Given the description of an element on the screen output the (x, y) to click on. 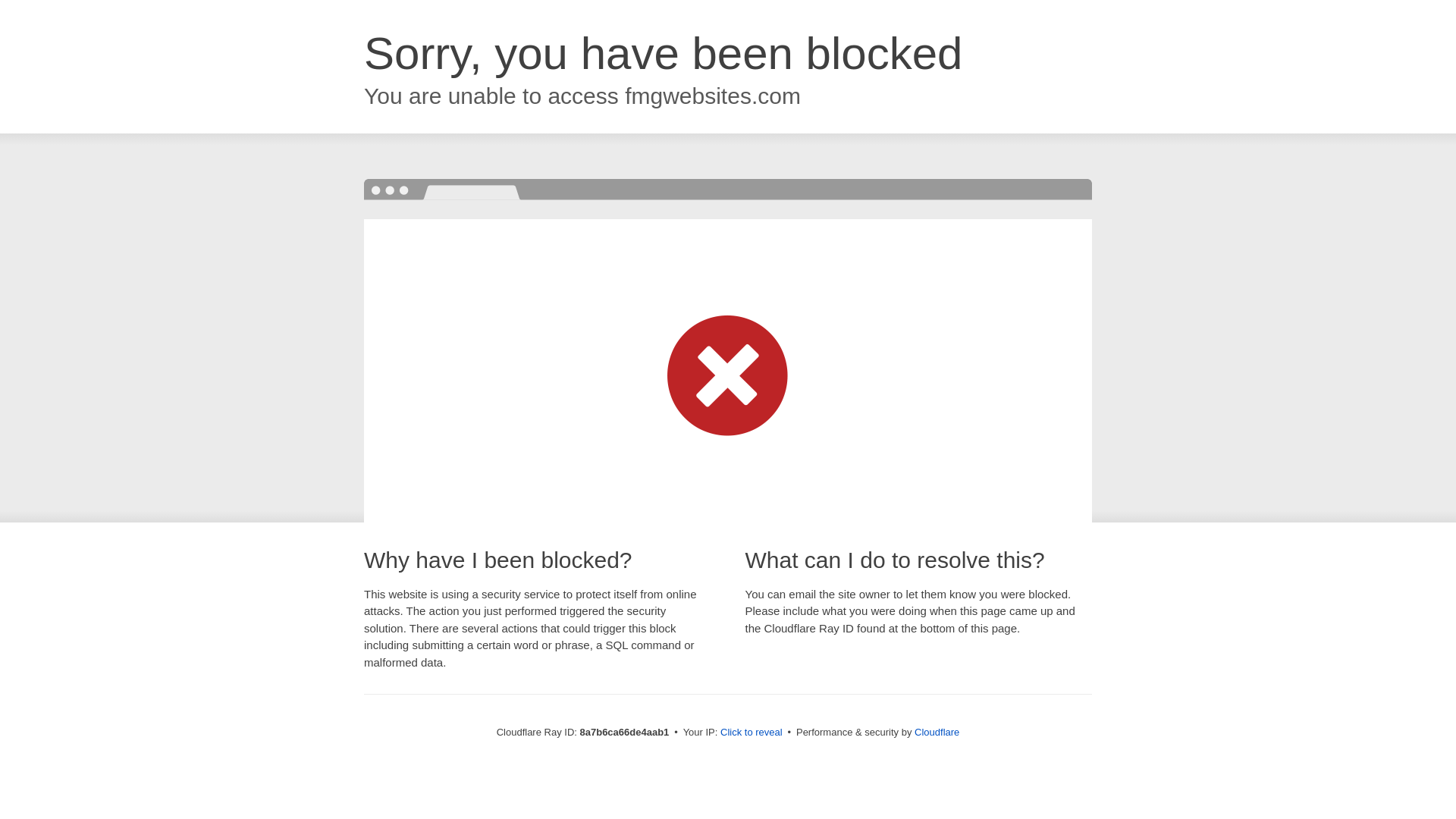
Click to reveal (751, 732)
Cloudflare (936, 731)
